Given the description of an element on the screen output the (x, y) to click on. 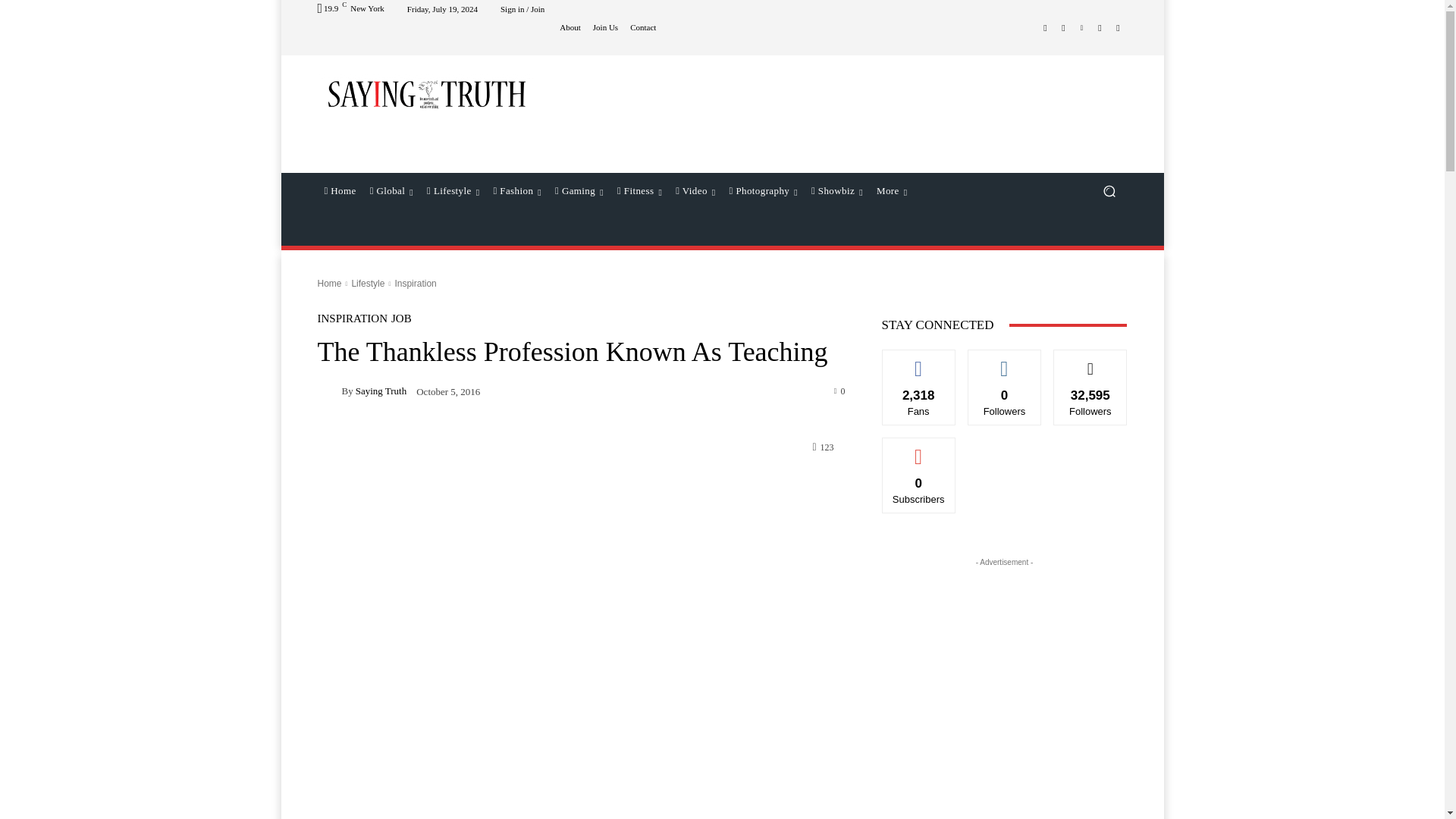
Join Us (604, 27)
About (569, 27)
Linkedin (1080, 27)
Facebook (1044, 27)
Instagram (1062, 27)
Contact (643, 27)
Twitter (1099, 27)
Advertisement (846, 113)
Youtube (1117, 27)
